Given the description of an element on the screen output the (x, y) to click on. 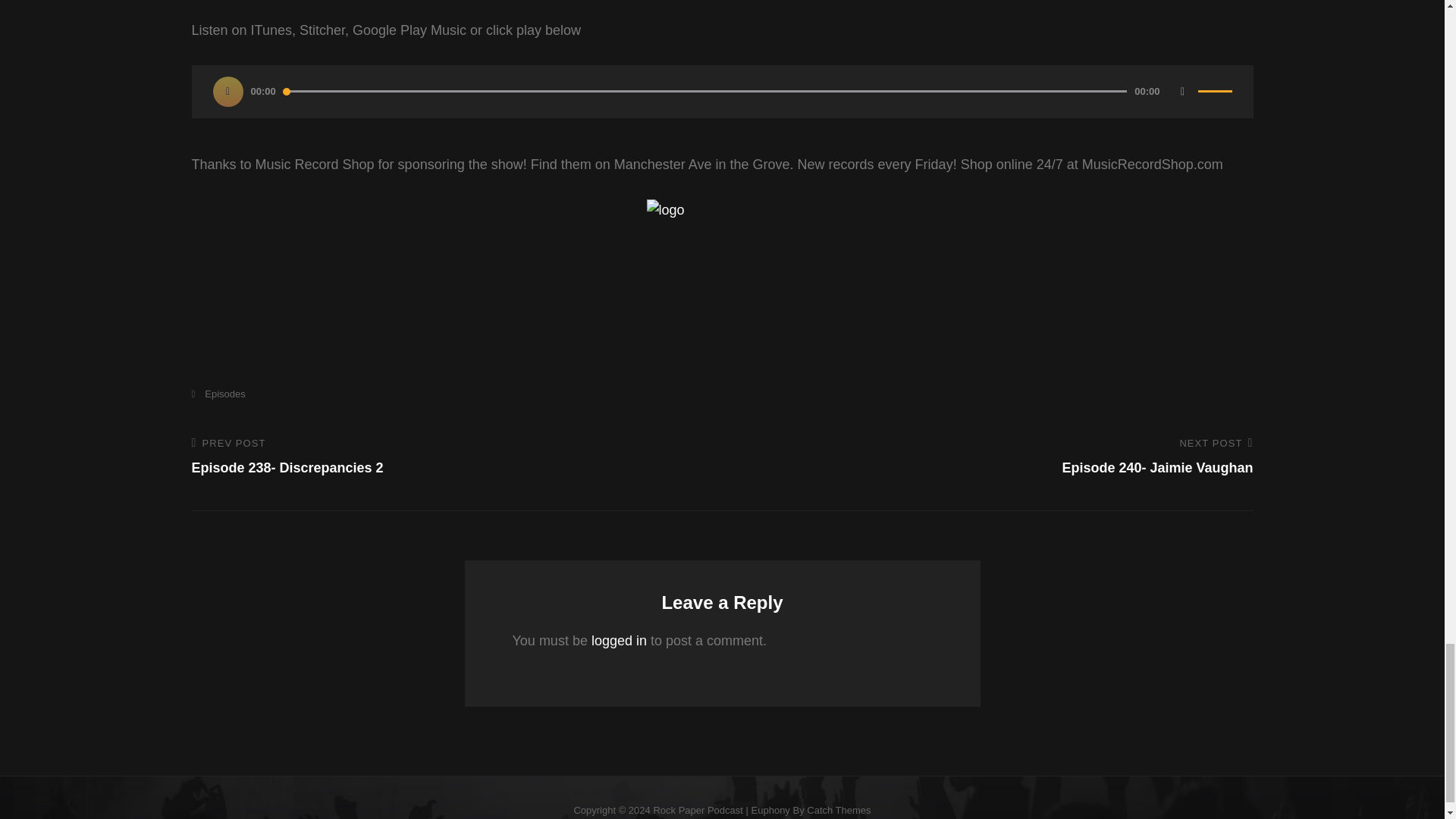
Episodes (217, 393)
Rock Paper Podcast (697, 809)
logged in (445, 456)
Play (618, 640)
Catch Themes (227, 91)
Mute (997, 456)
